Given the description of an element on the screen output the (x, y) to click on. 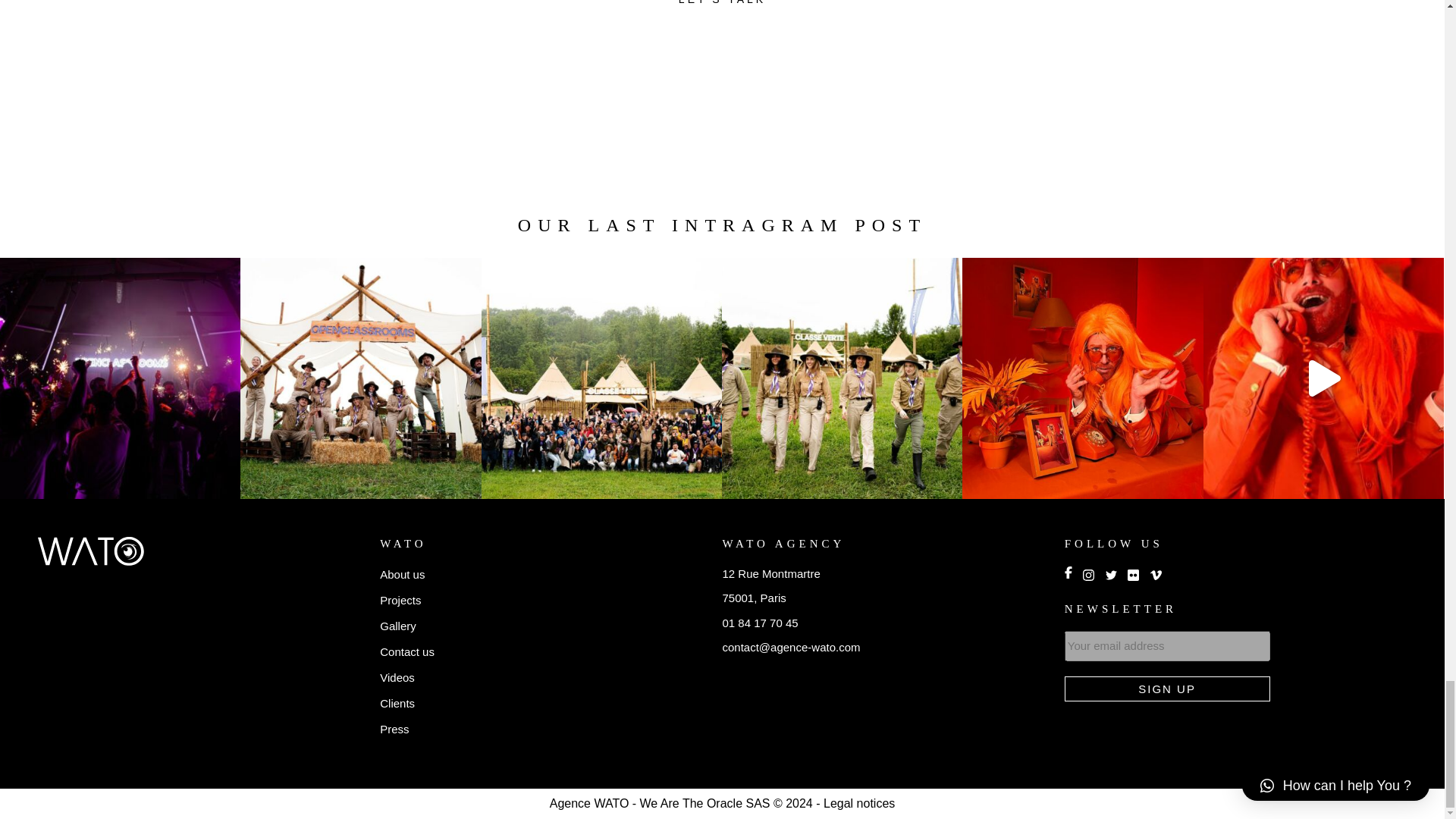
Agence Wato (90, 549)
phone (759, 622)
Sign up (1166, 688)
